Given the description of an element on the screen output the (x, y) to click on. 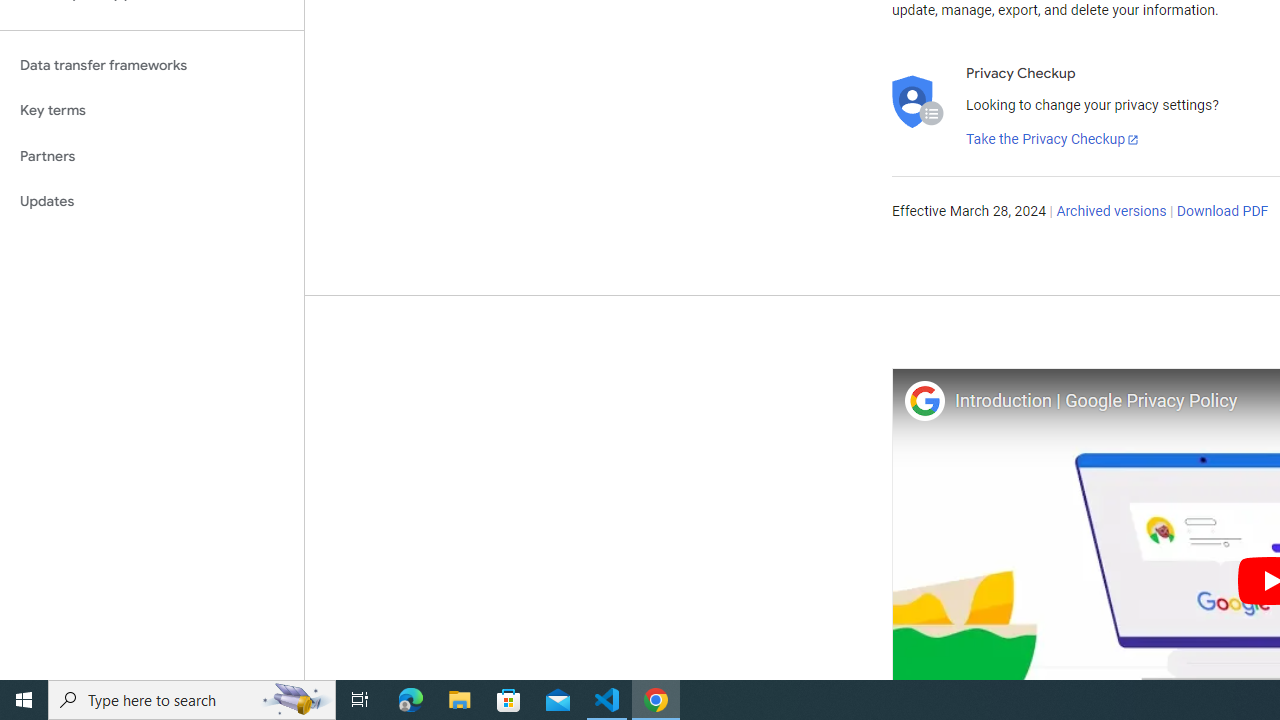
Archived versions (1111, 212)
Take the Privacy Checkup (1053, 140)
Download PDF (1222, 212)
Photo image of Google (924, 400)
